Given the description of an element on the screen output the (x, y) to click on. 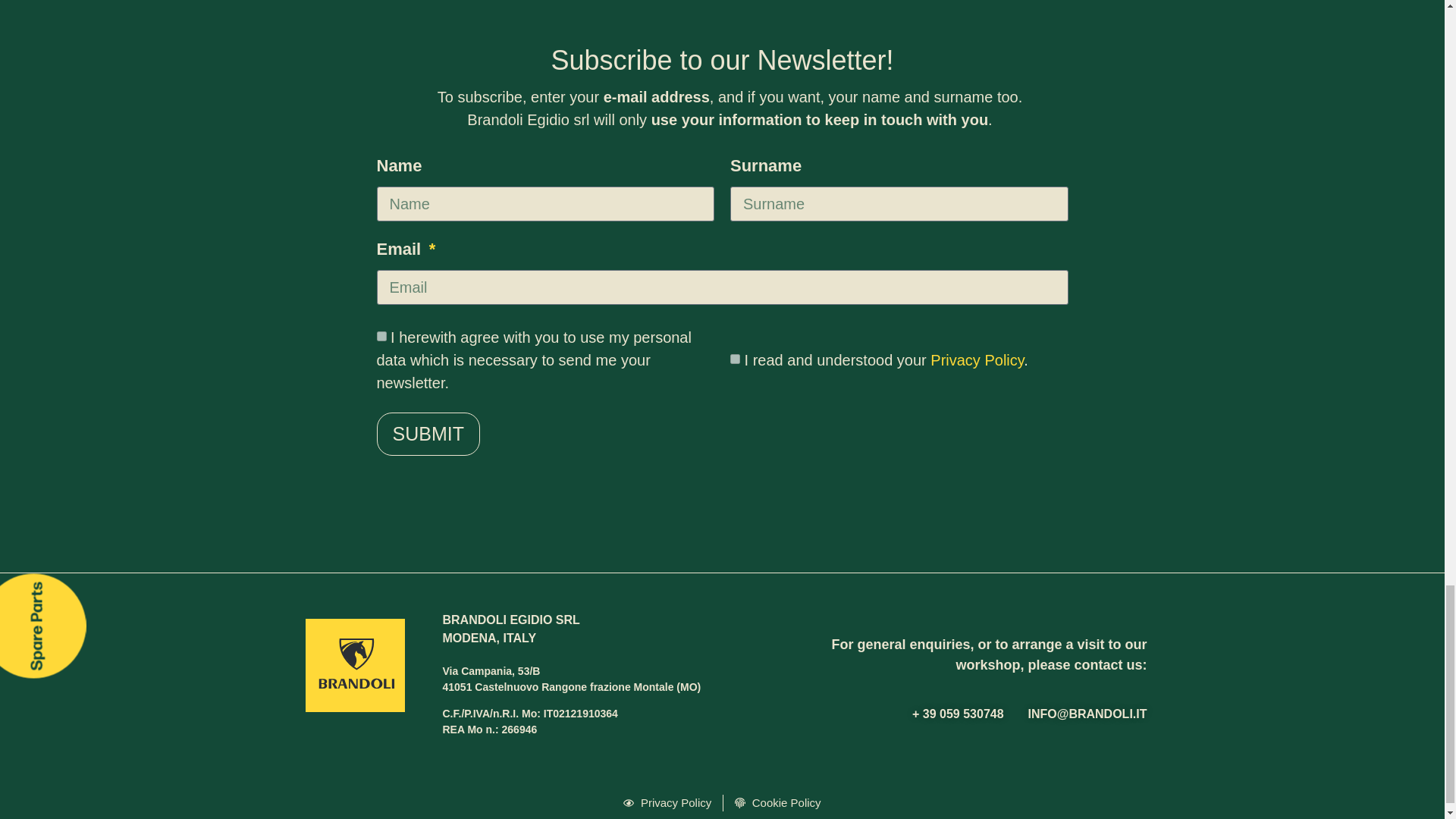
on (734, 358)
Privacy Policy (667, 803)
Cookie Policy (778, 803)
on (380, 336)
Privacy Policy (976, 359)
SUBMIT (427, 433)
